Given the description of an element on the screen output the (x, y) to click on. 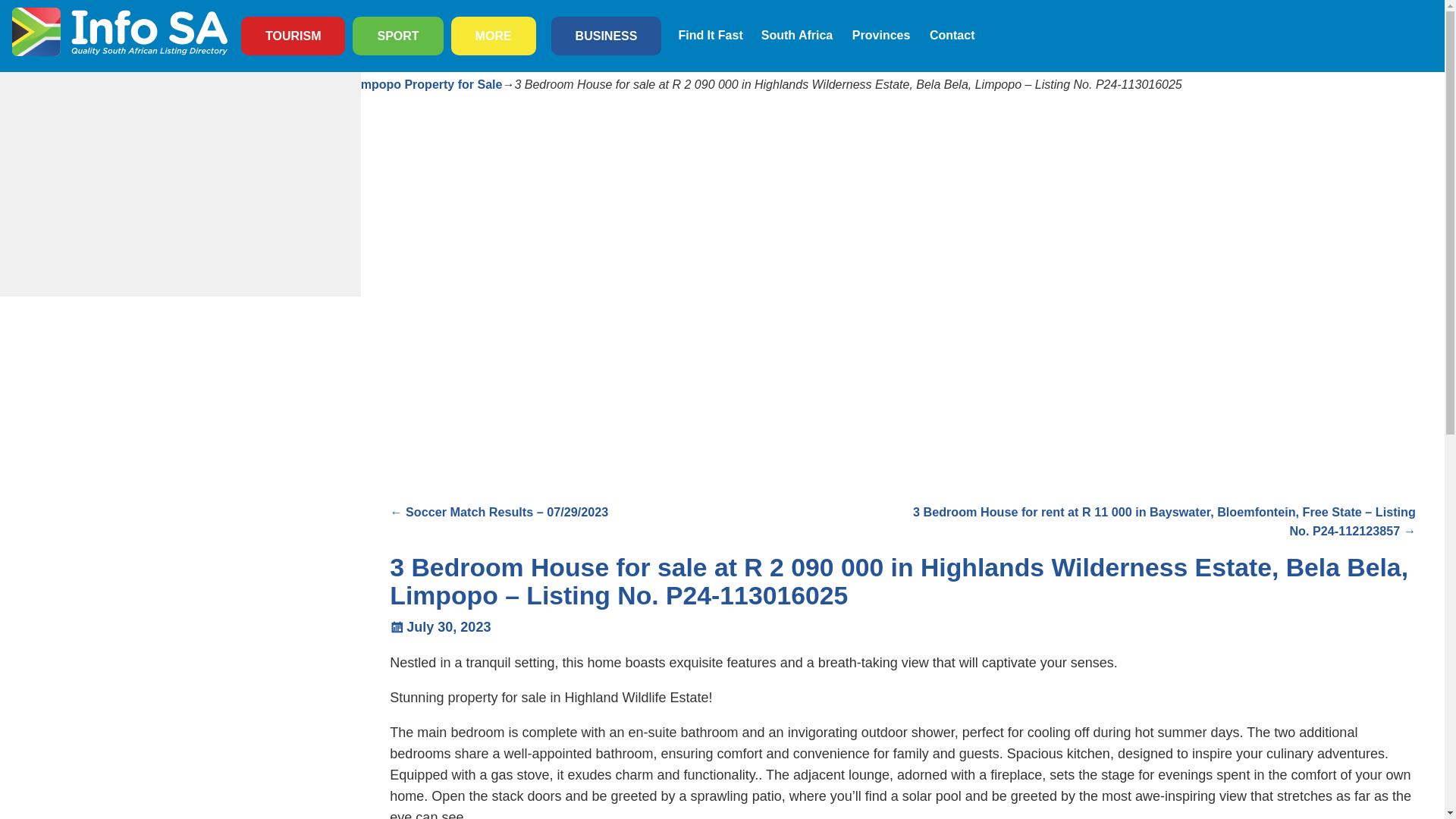
Find It Fast (709, 35)
Contact (952, 35)
TOURISM (293, 35)
Advertisement (471, 394)
BUSINESS (606, 35)
10:31 am (440, 626)
Provinces (881, 35)
Advertisement (181, 183)
South Africa (797, 35)
MORE (493, 35)
SPORT (398, 35)
